Given the description of an element on the screen output the (x, y) to click on. 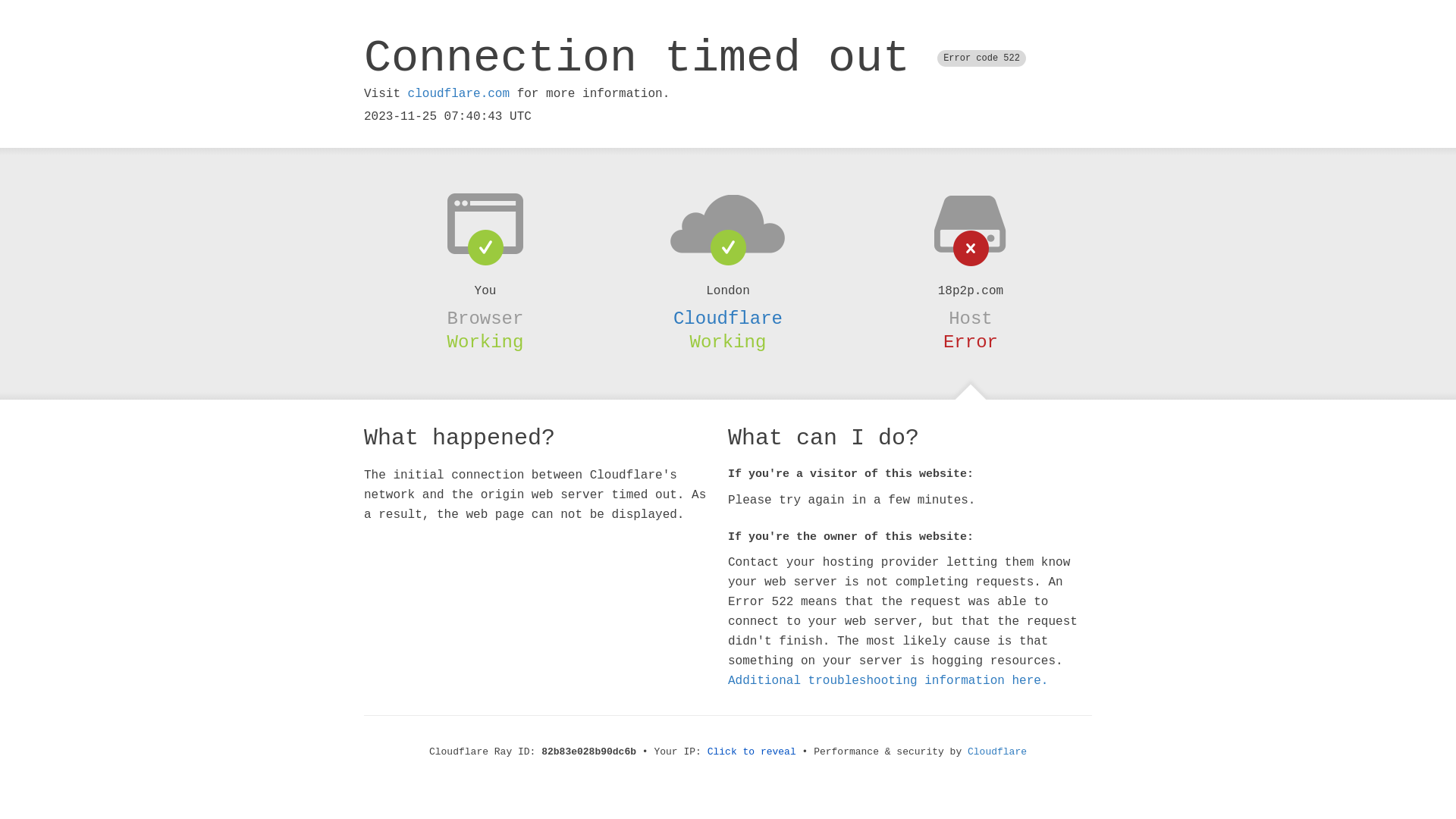
Cloudflare Element type: text (727, 318)
cloudflare.com Element type: text (458, 93)
Additional troubleshooting information here. Element type: text (888, 680)
Click to reveal Element type: text (751, 751)
Cloudflare Element type: text (996, 751)
